Given the description of an element on the screen output the (x, y) to click on. 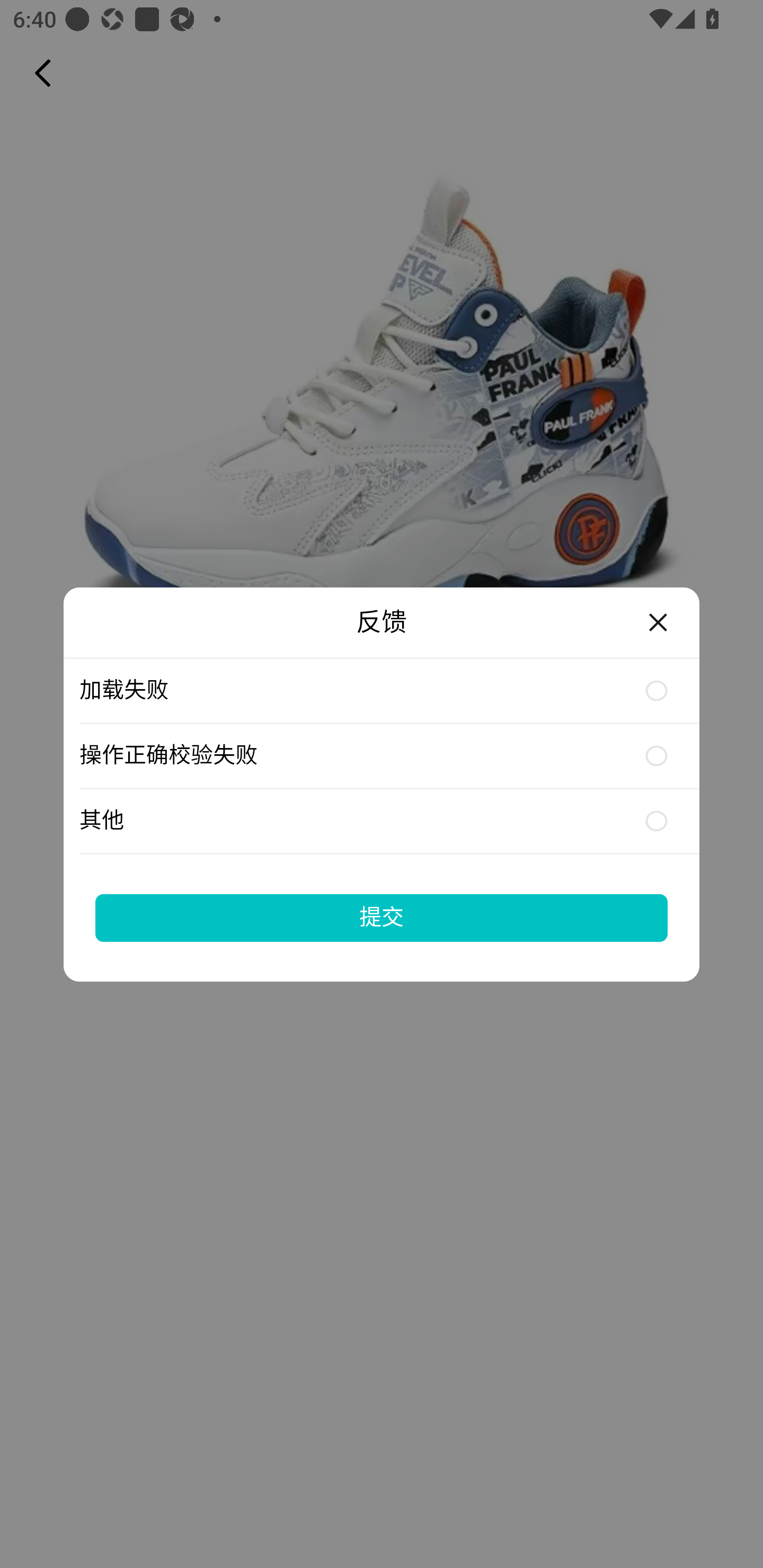
提交 (381, 917)
